Given the description of an element on the screen output the (x, y) to click on. 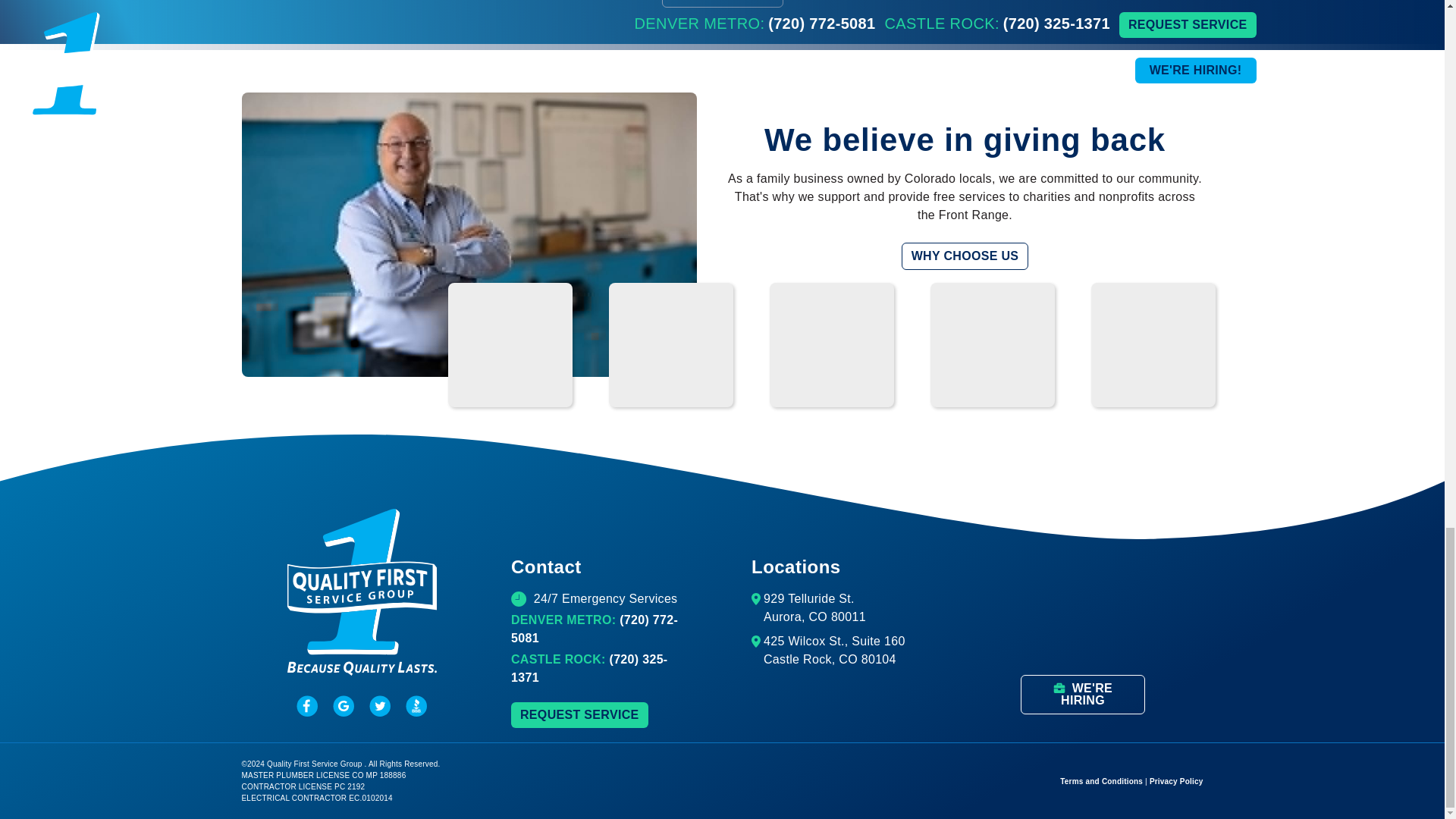
Google (343, 705)
Facebook (306, 705)
Twitter (379, 705)
BBB  (416, 705)
